Given the description of an element on the screen output the (x, y) to click on. 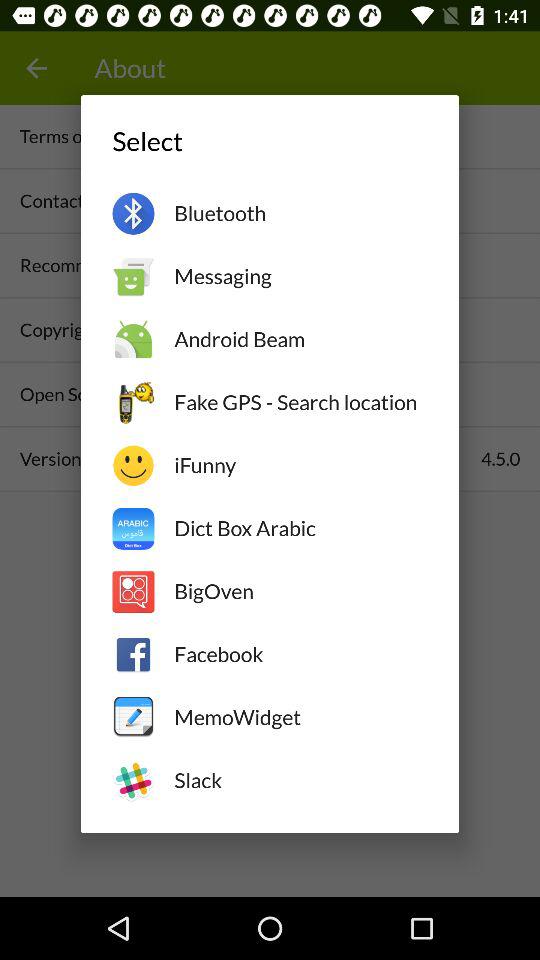
open the icon above the dict box arabic item (300, 465)
